Given the description of an element on the screen output the (x, y) to click on. 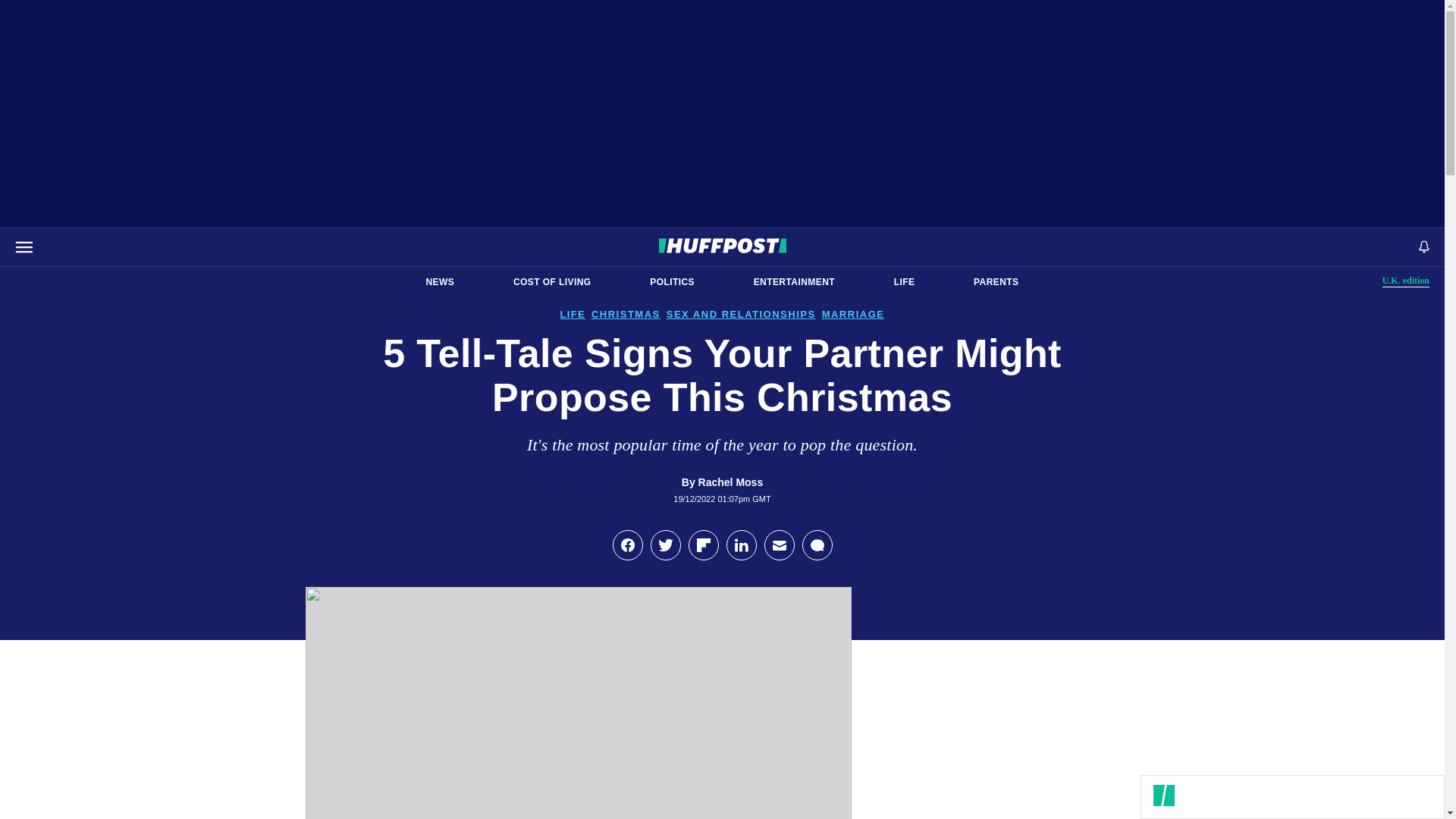
NEWS (1405, 281)
PARENTS (440, 281)
COST OF LIVING (995, 281)
POLITICS (552, 281)
LIFE (671, 281)
ENTERTAINMENT (904, 281)
